Given the description of an element on the screen output the (x, y) to click on. 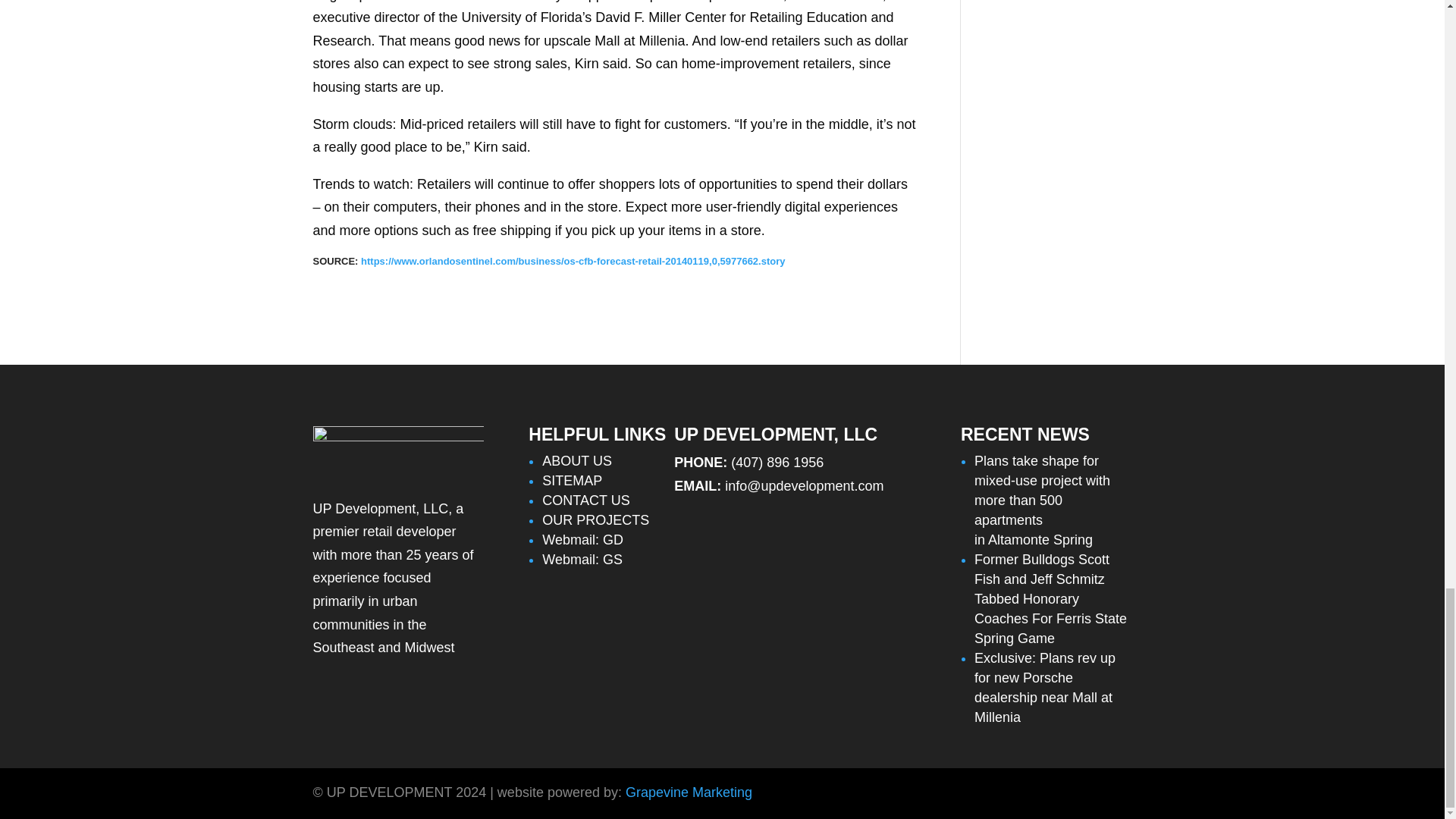
OUR PROJECTS (595, 519)
logo-WHT (398, 449)
Grapevine Marketing (689, 792)
SITEMAP (571, 480)
CONTACT US (584, 500)
ABOUT US (576, 460)
Webmail: GS (582, 559)
